Given the description of an element on the screen output the (x, y) to click on. 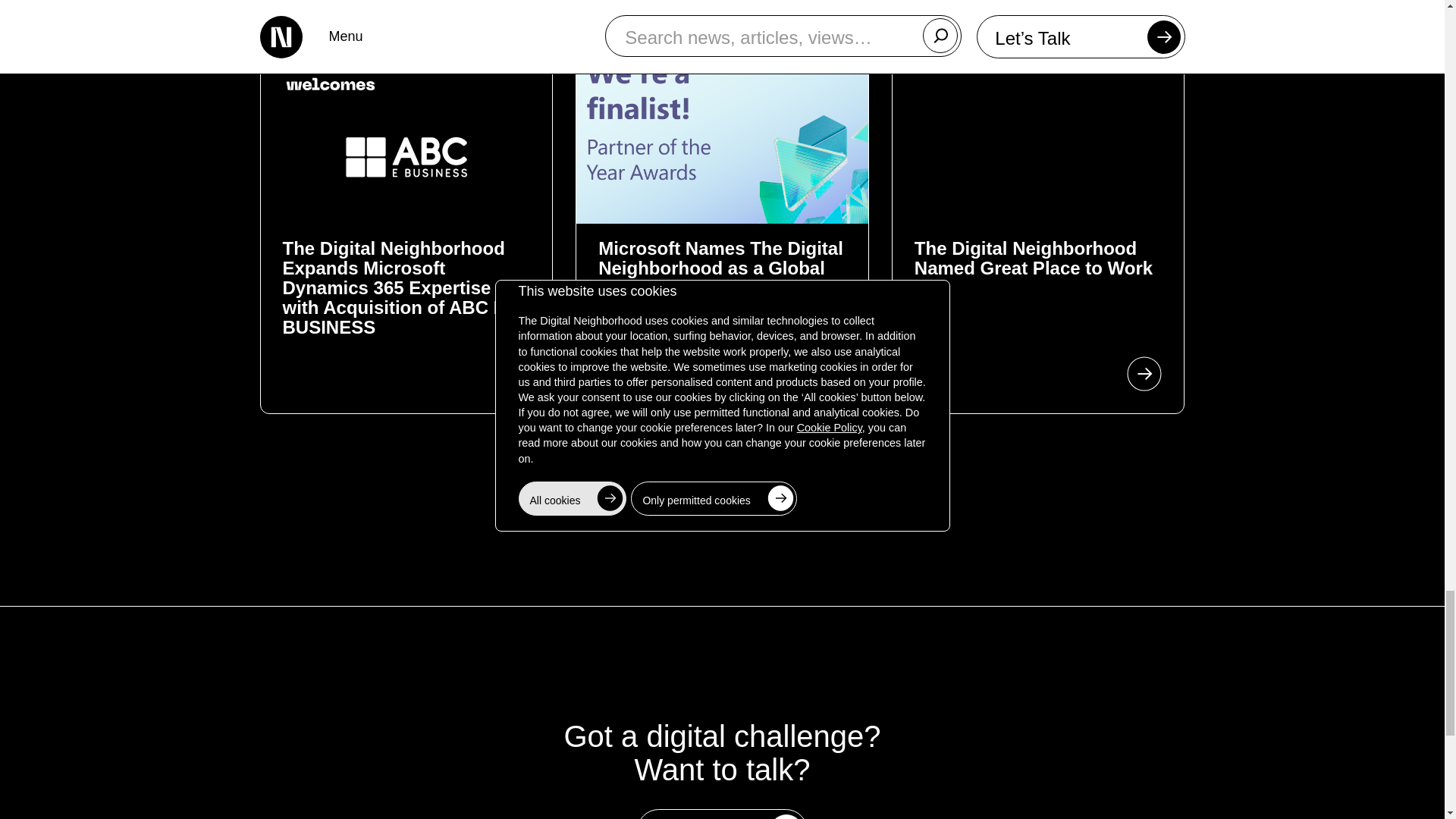
The Digital Neighborhood Named Great Place to Work (1033, 267)
Read more (721, 480)
Contact (721, 814)
